Given the description of an element on the screen output the (x, y) to click on. 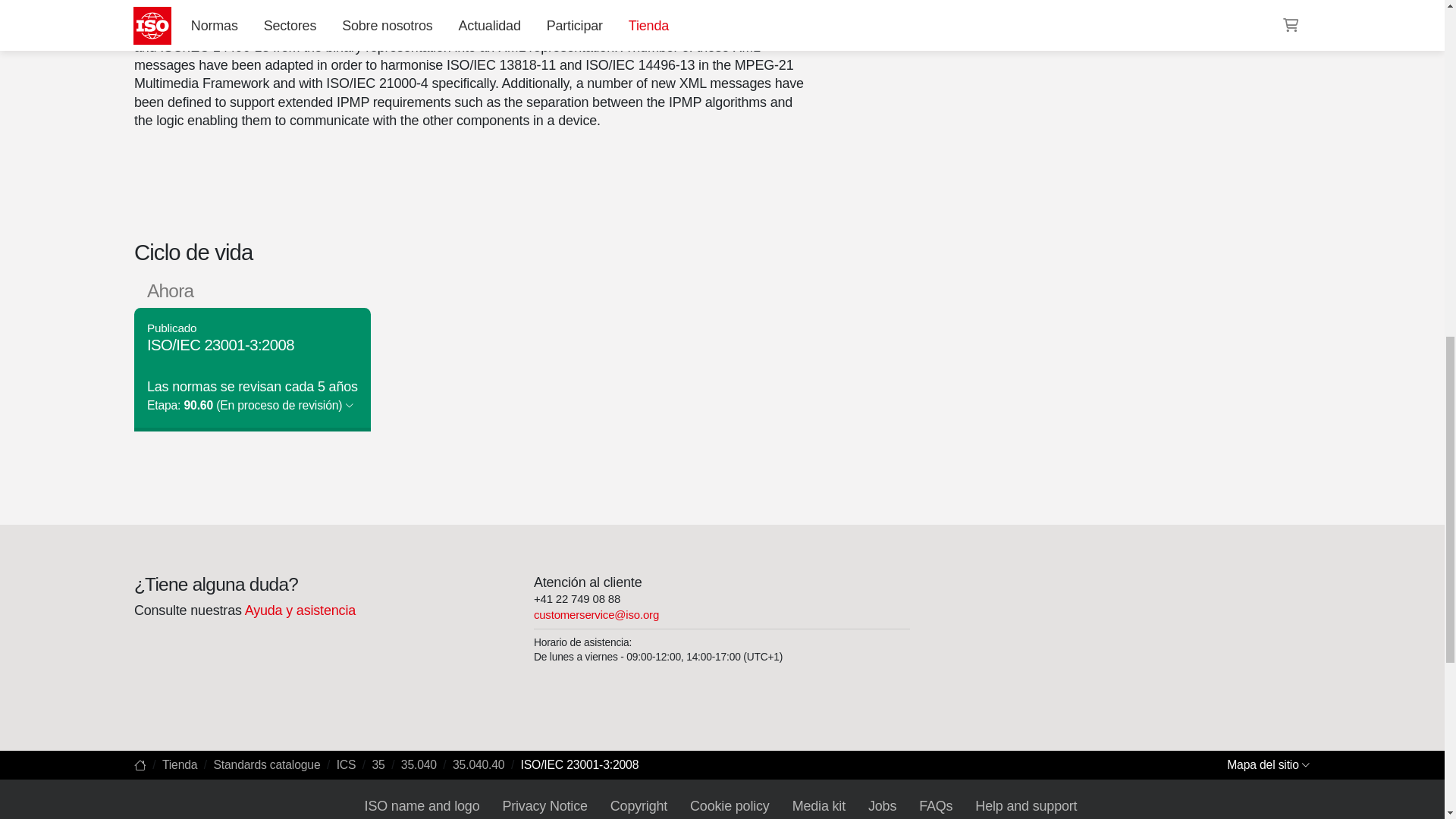
RSS (956, 6)
